Given the description of an element on the screen output the (x, y) to click on. 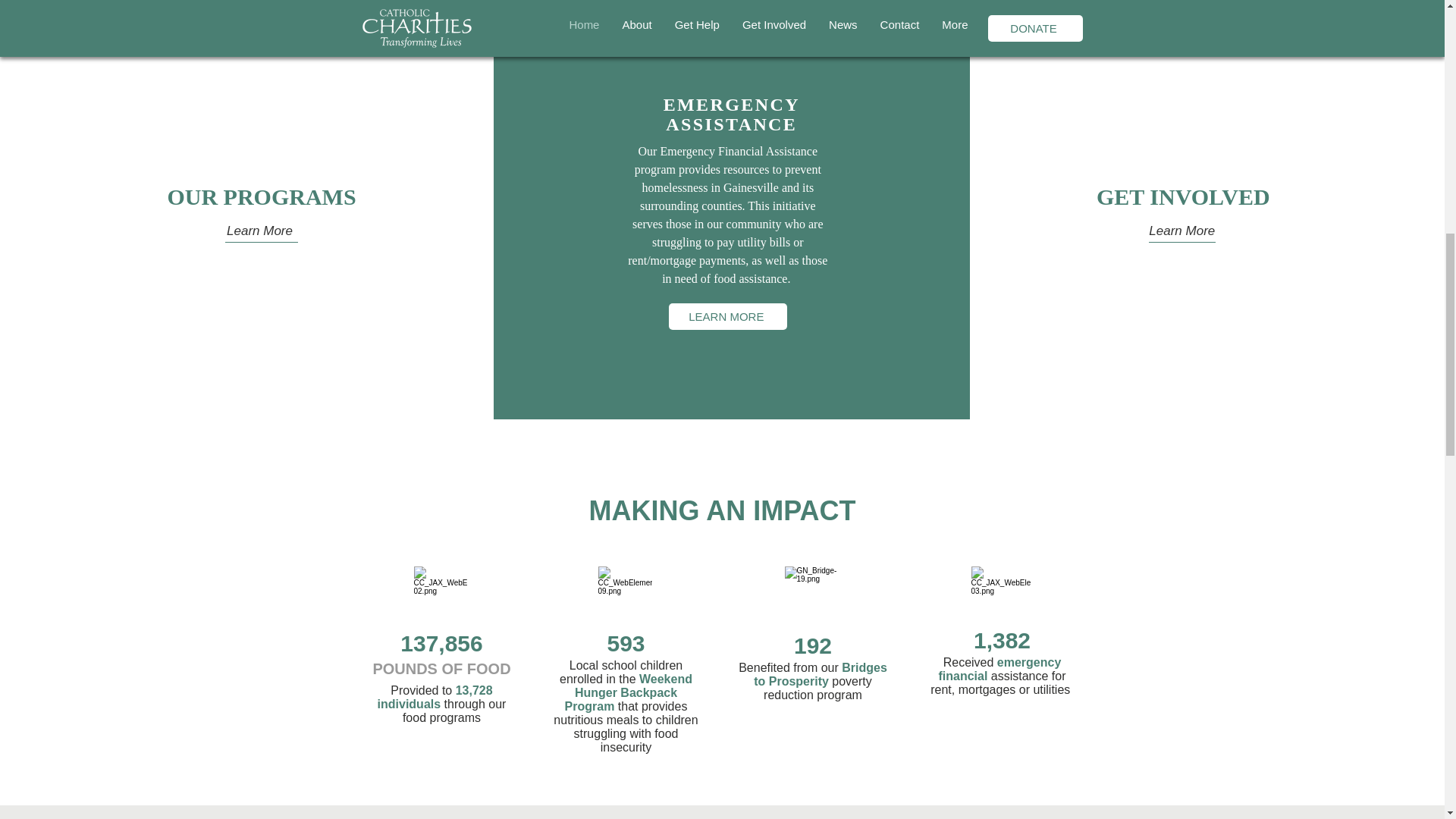
Learn More (259, 231)
LEARN MORE (727, 316)
Learn More (1181, 231)
